Given the description of an element on the screen output the (x, y) to click on. 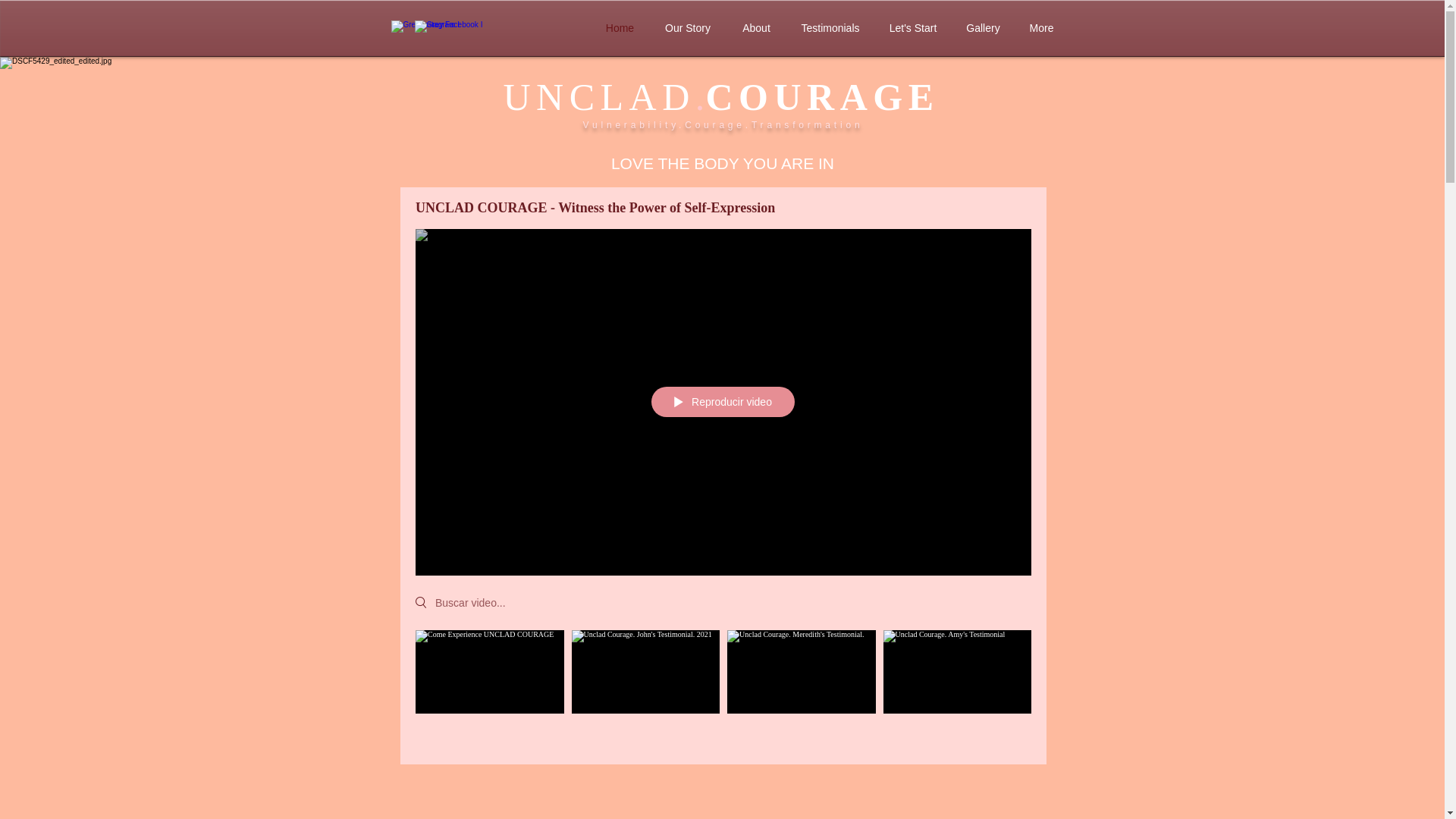
Our Story (687, 27)
Home (619, 27)
UNCLAD COURAGE - Witness the Power of Self-Expression (715, 207)
Gallery (983, 27)
About (756, 27)
Reproducir video (722, 401)
Testimonials (831, 27)
Let's Start (912, 27)
